Given the description of an element on the screen output the (x, y) to click on. 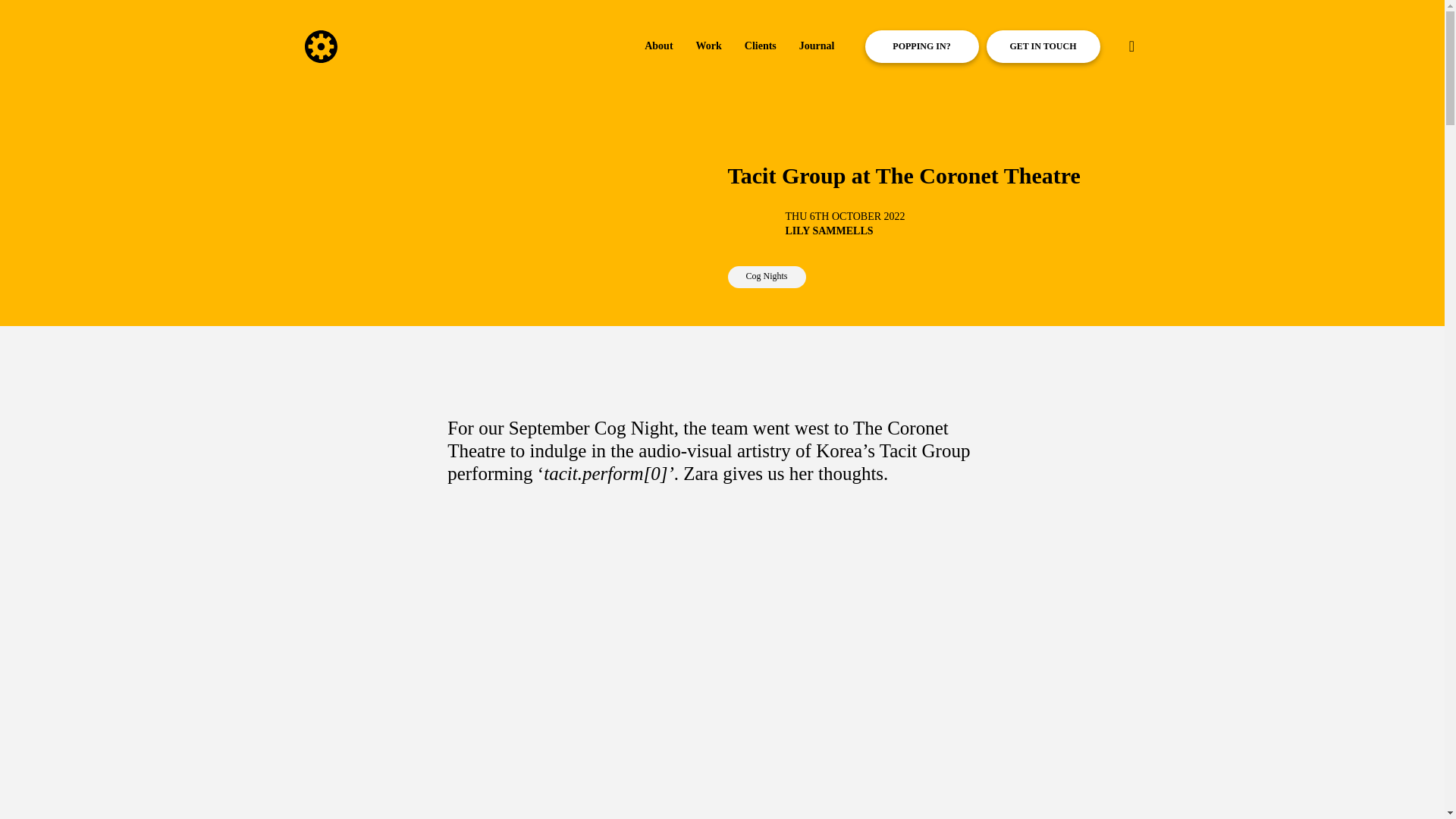
About (658, 47)
GET IN TOUCH (1042, 46)
Clients (760, 47)
Work (708, 47)
Journal (816, 47)
POPPING IN? (921, 46)
Cog Nights (767, 276)
